Given the description of an element on the screen output the (x, y) to click on. 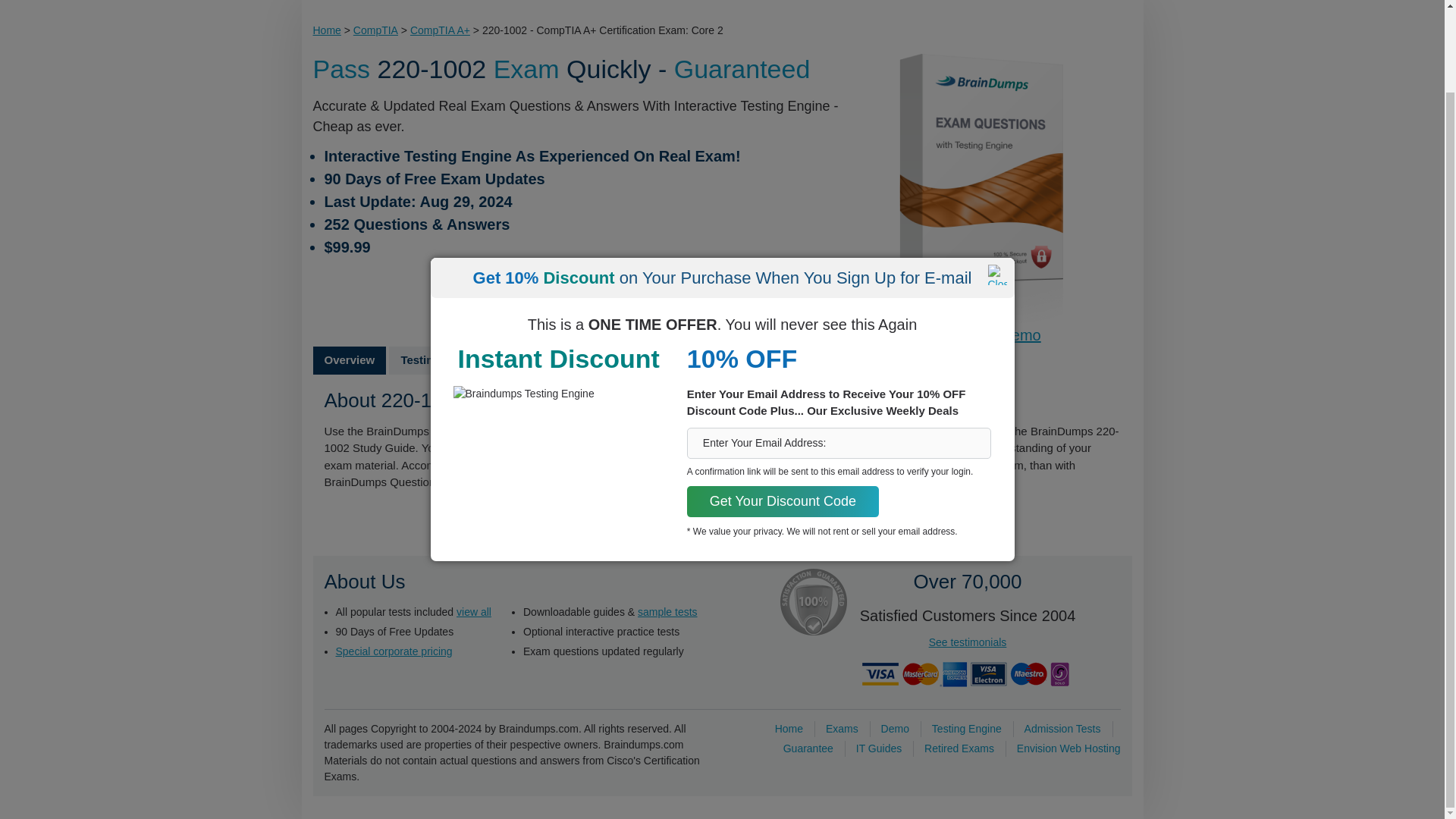
Special corporate pricing (392, 650)
Proceed to Checkout (581, 285)
Close (996, 181)
view all (474, 611)
sample tests (667, 611)
Enter Your Email Address: (839, 350)
Home (788, 727)
Download Demo (984, 334)
See testimonials (967, 641)
